Given the description of an element on the screen output the (x, y) to click on. 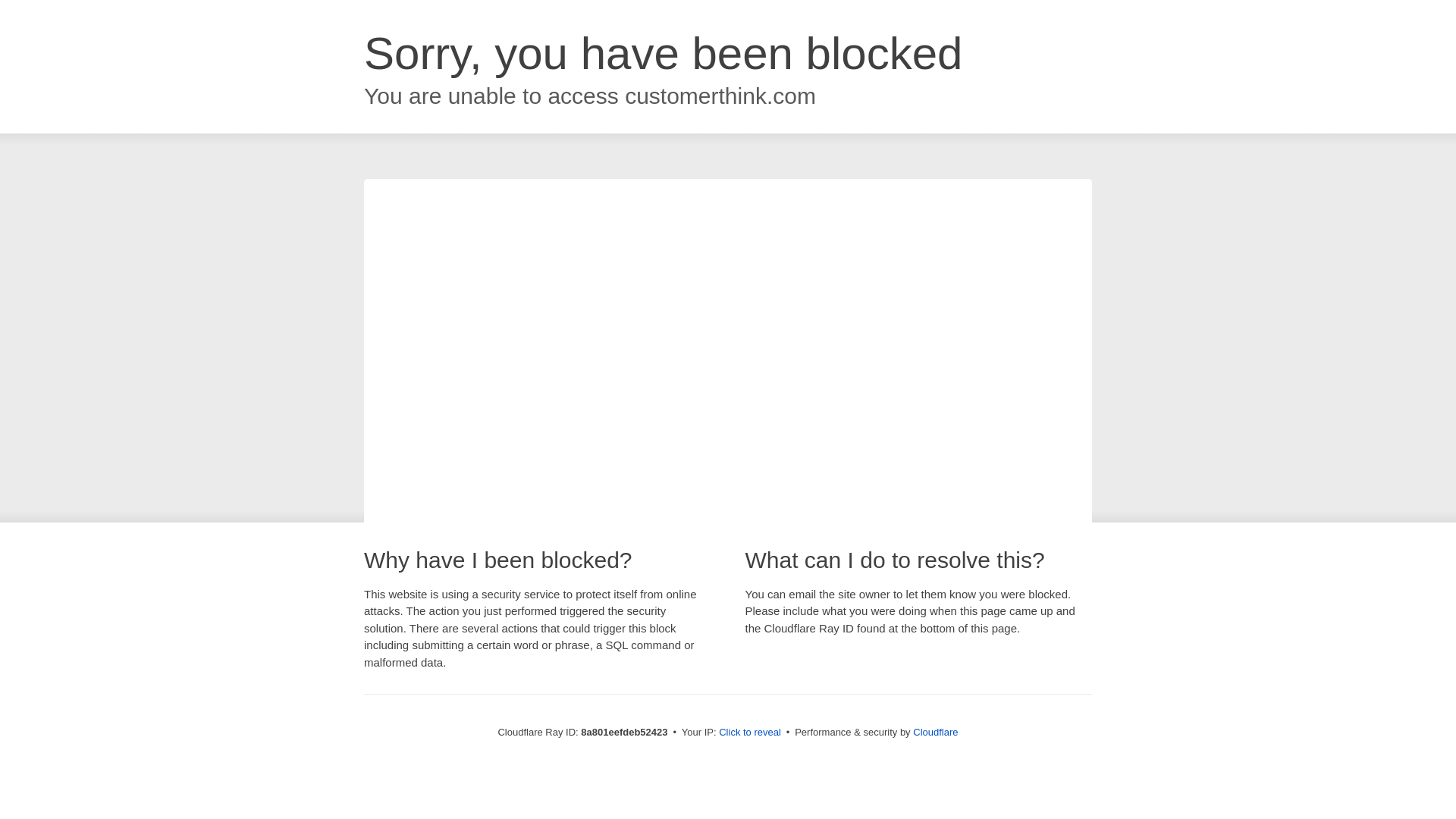
Cloudflare (935, 731)
Click to reveal (749, 732)
